Given the description of an element on the screen output the (x, y) to click on. 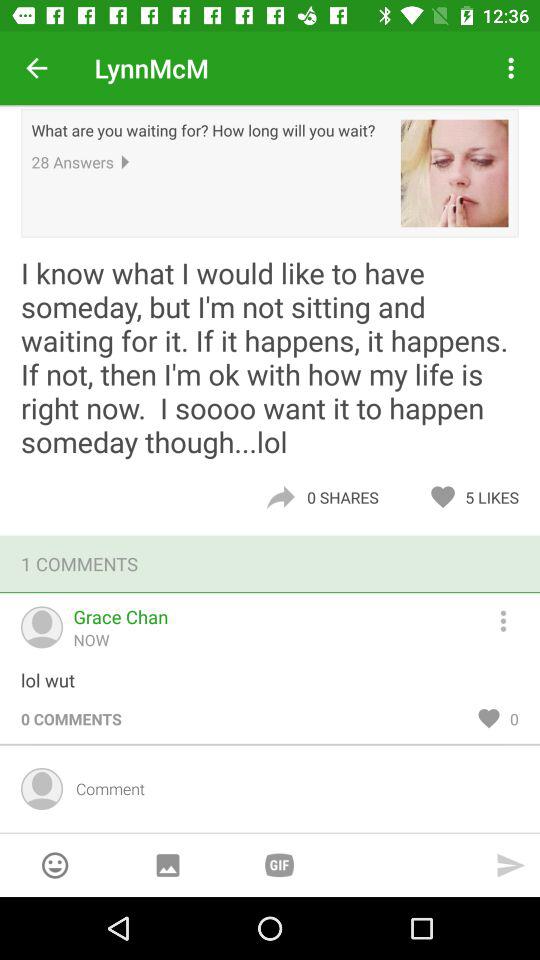
scroll until the 0 comments item (71, 718)
